Given the description of an element on the screen output the (x, y) to click on. 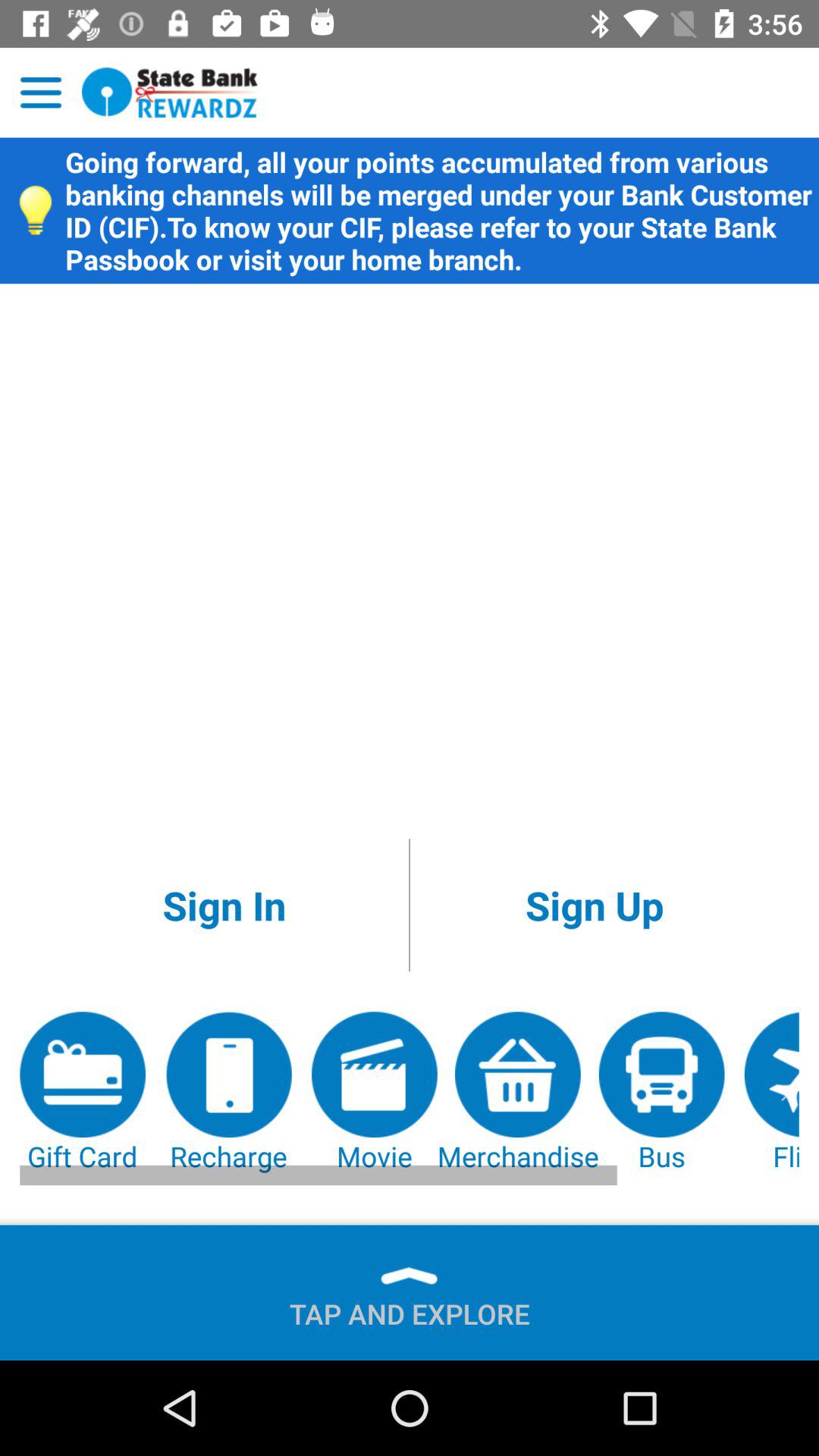
turn off bus icon (661, 1093)
